Given the description of an element on the screen output the (x, y) to click on. 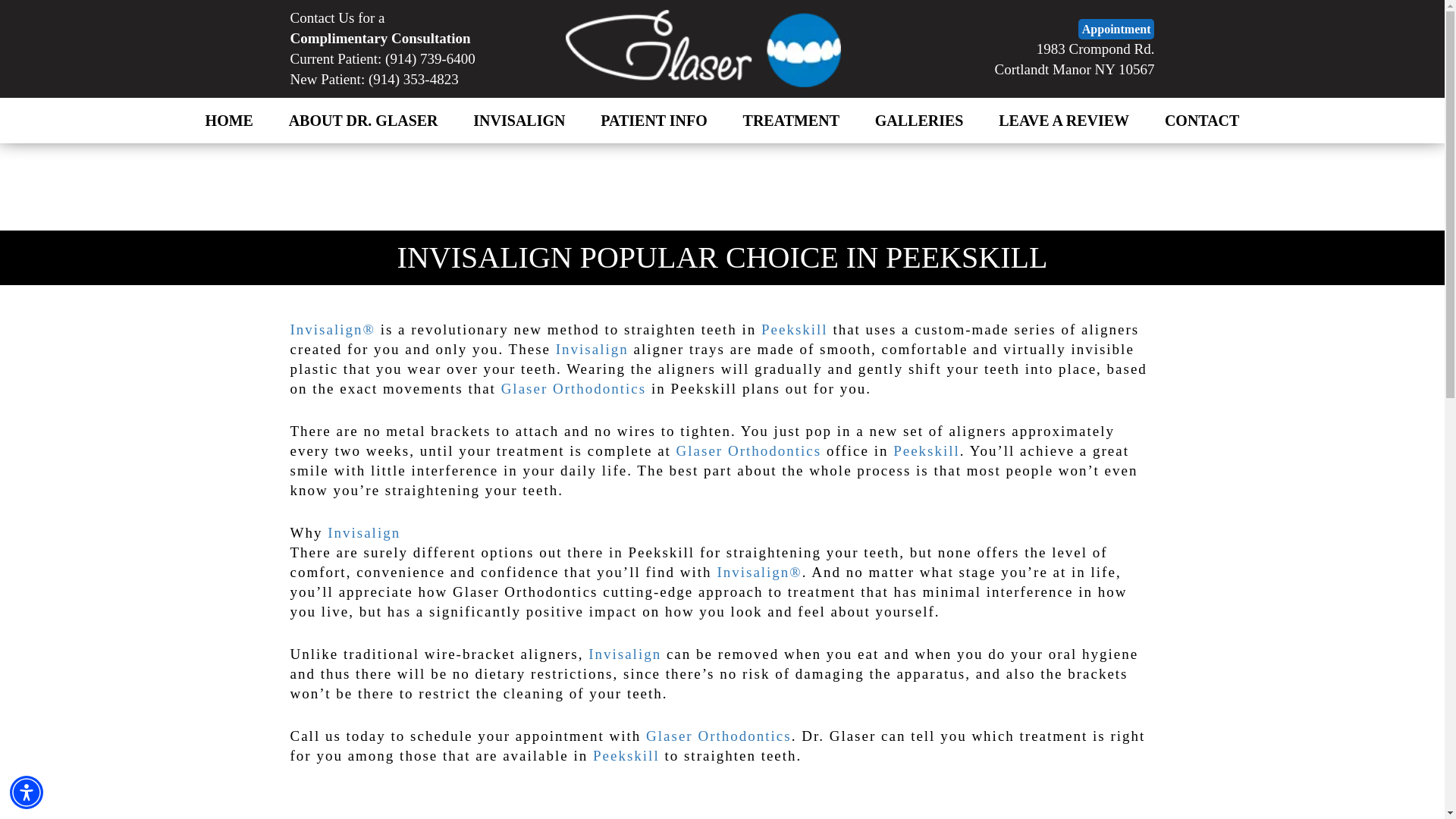
Accessibility Menu (26, 792)
